Given the description of an element on the screen output the (x, y) to click on. 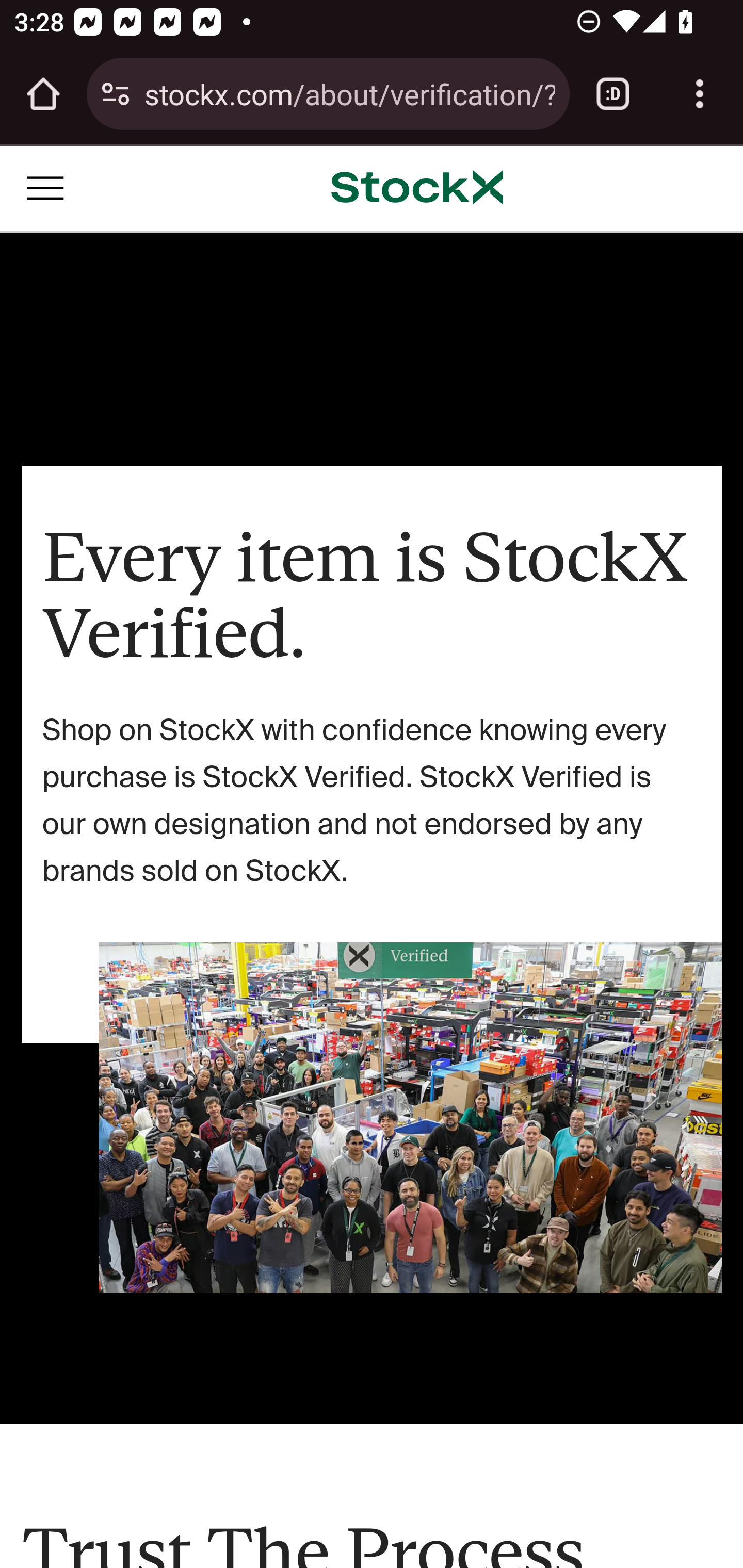
Open the home page (43, 93)
Connection is secure (115, 93)
Switch or close tabs (612, 93)
Customize and control Google Chrome (699, 93)
Toggle Navigation (46, 187)
StockX Logo (416, 187)
